Given the description of an element on the screen output the (x, y) to click on. 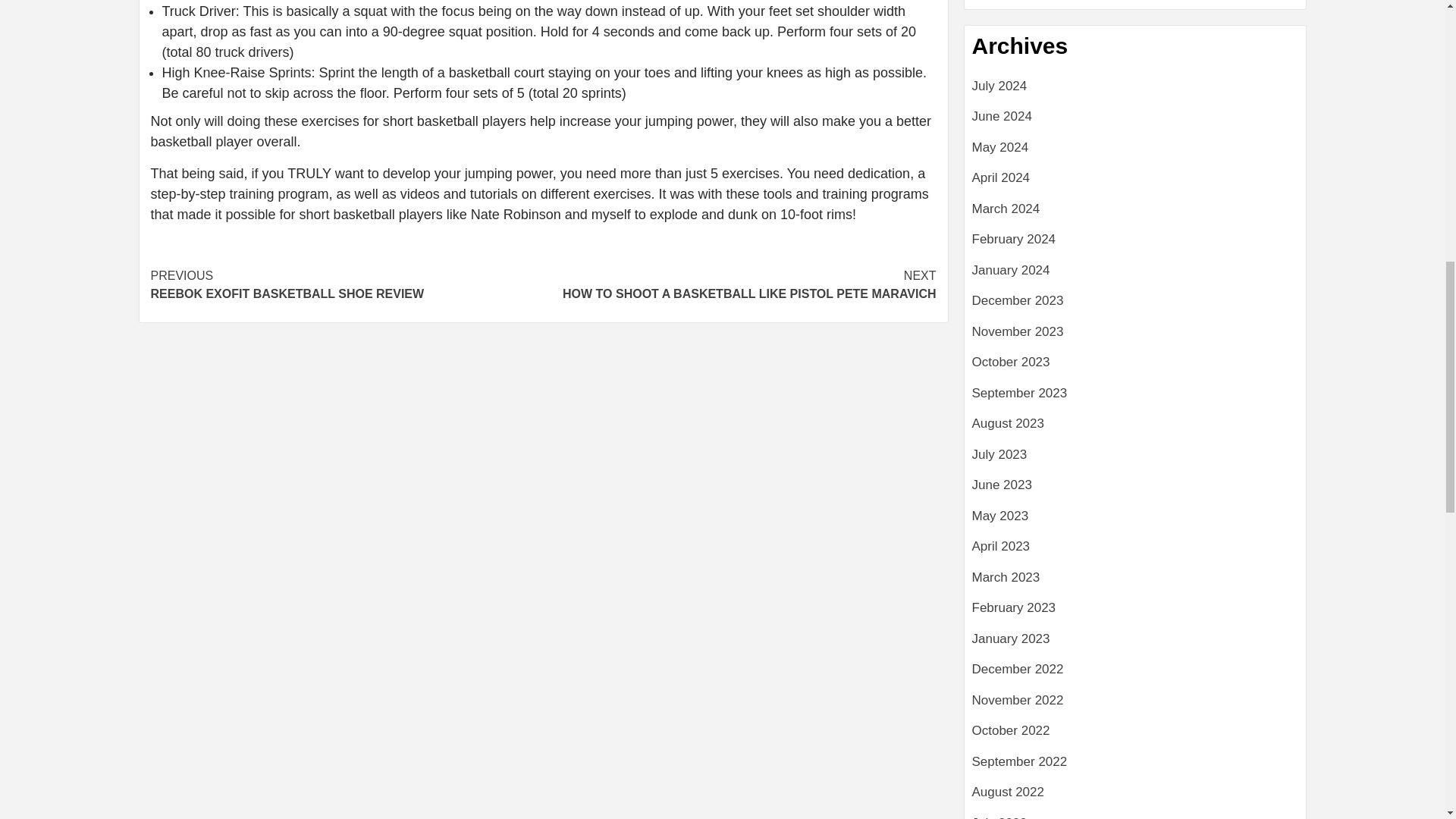
February 2024 (1135, 214)
March 2024 (346, 254)
June 2024 (1135, 183)
January 2024 (1135, 92)
November 2023 (1135, 245)
September 2023 (1135, 306)
May 2024 (1135, 368)
October 2023 (1135, 122)
December 2023 (1135, 337)
April 2024 (1135, 276)
July 2024 (1135, 153)
